Given the description of an element on the screen output the (x, y) to click on. 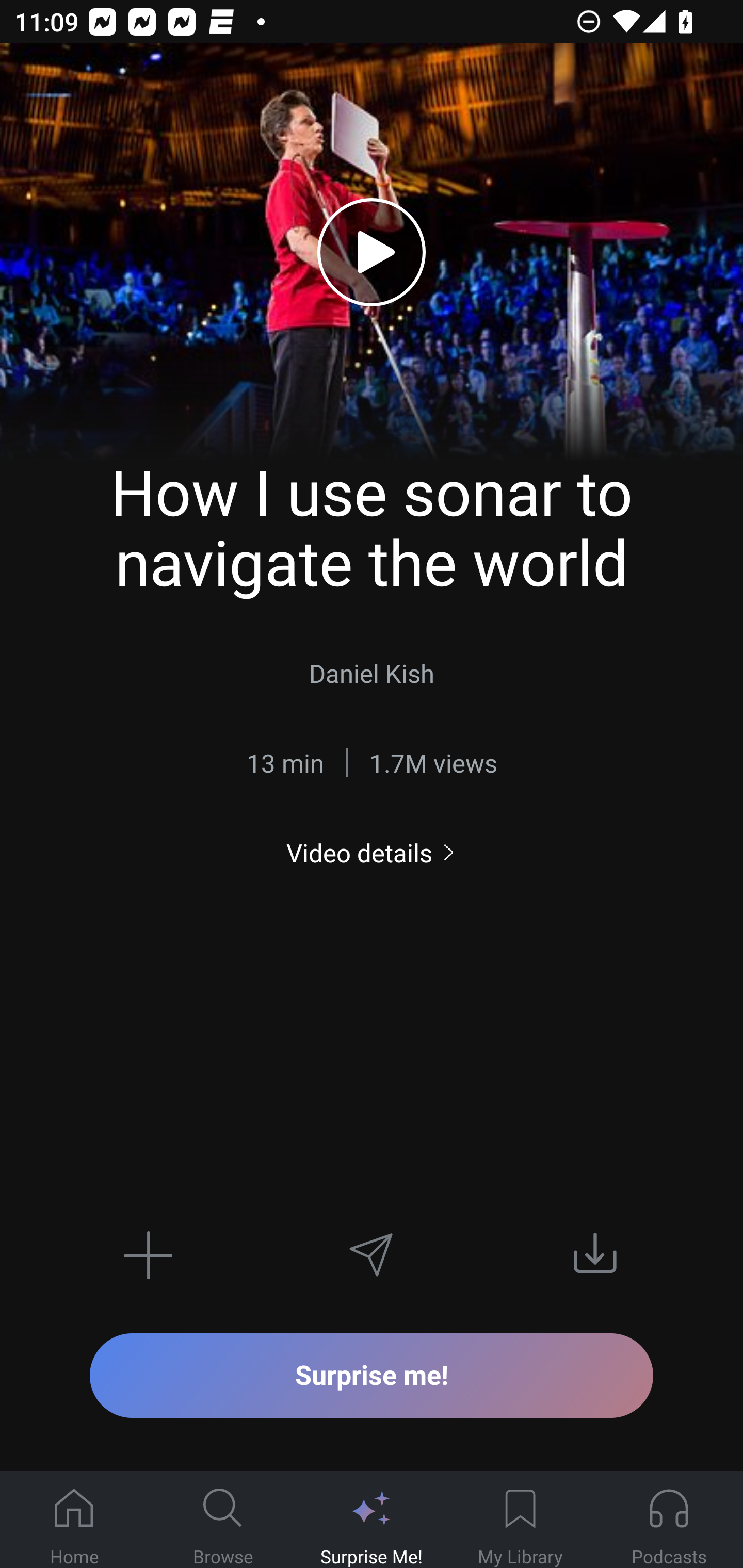
Video details (371, 852)
Surprise me! (371, 1374)
Home (74, 1520)
Browse (222, 1520)
Surprise Me! (371, 1520)
My Library (519, 1520)
Podcasts (668, 1520)
